Given the description of an element on the screen output the (x, y) to click on. 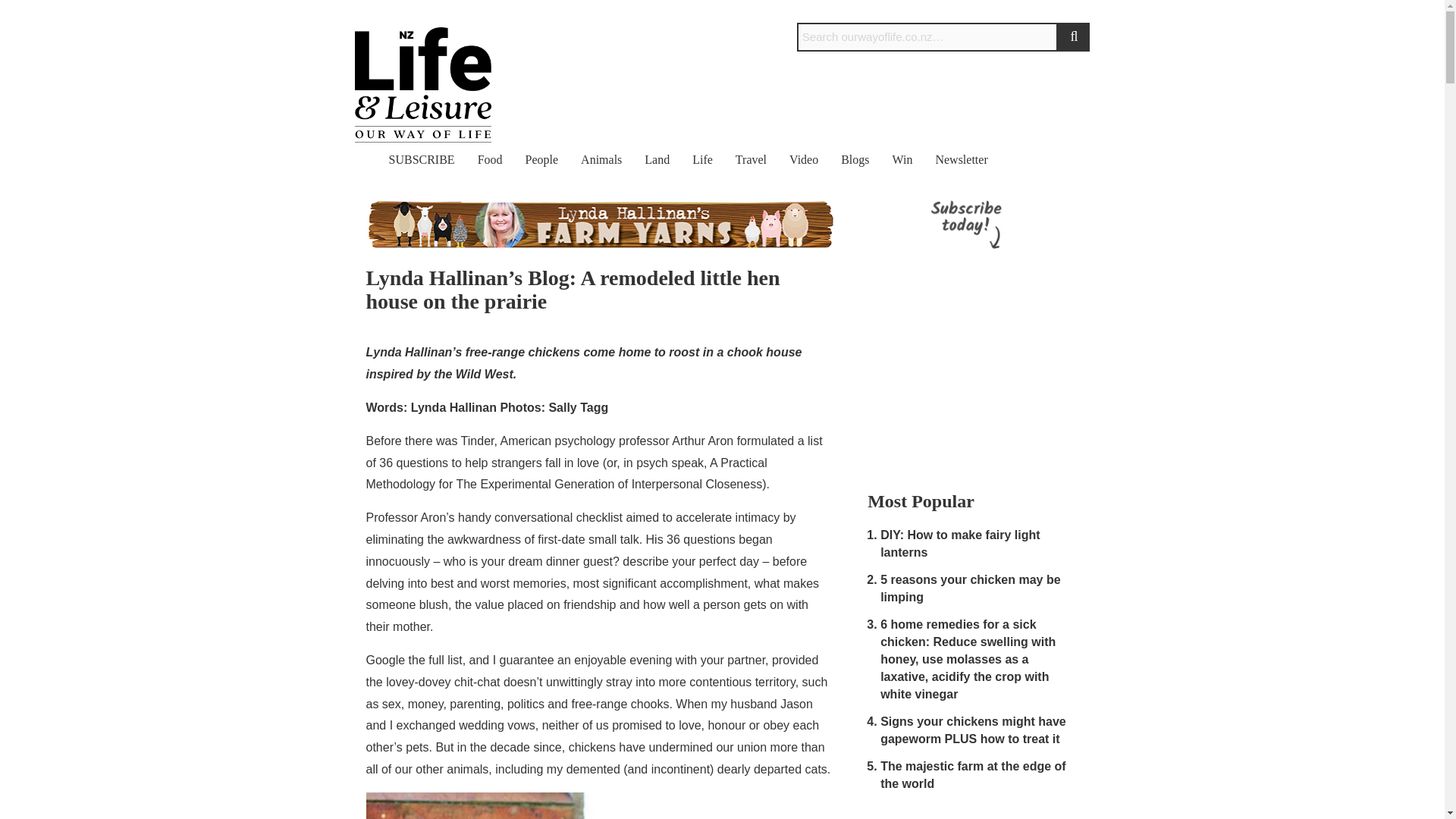
Blogs (855, 159)
Search for: (927, 36)
People (542, 159)
Life (703, 159)
Video (803, 159)
Signs your chickens might have gapeworm PLUS how to treat it (972, 729)
5 reasons your chicken may be limping (969, 588)
Win (902, 159)
Animals (600, 159)
Food (489, 159)
